Given the description of an element on the screen output the (x, y) to click on. 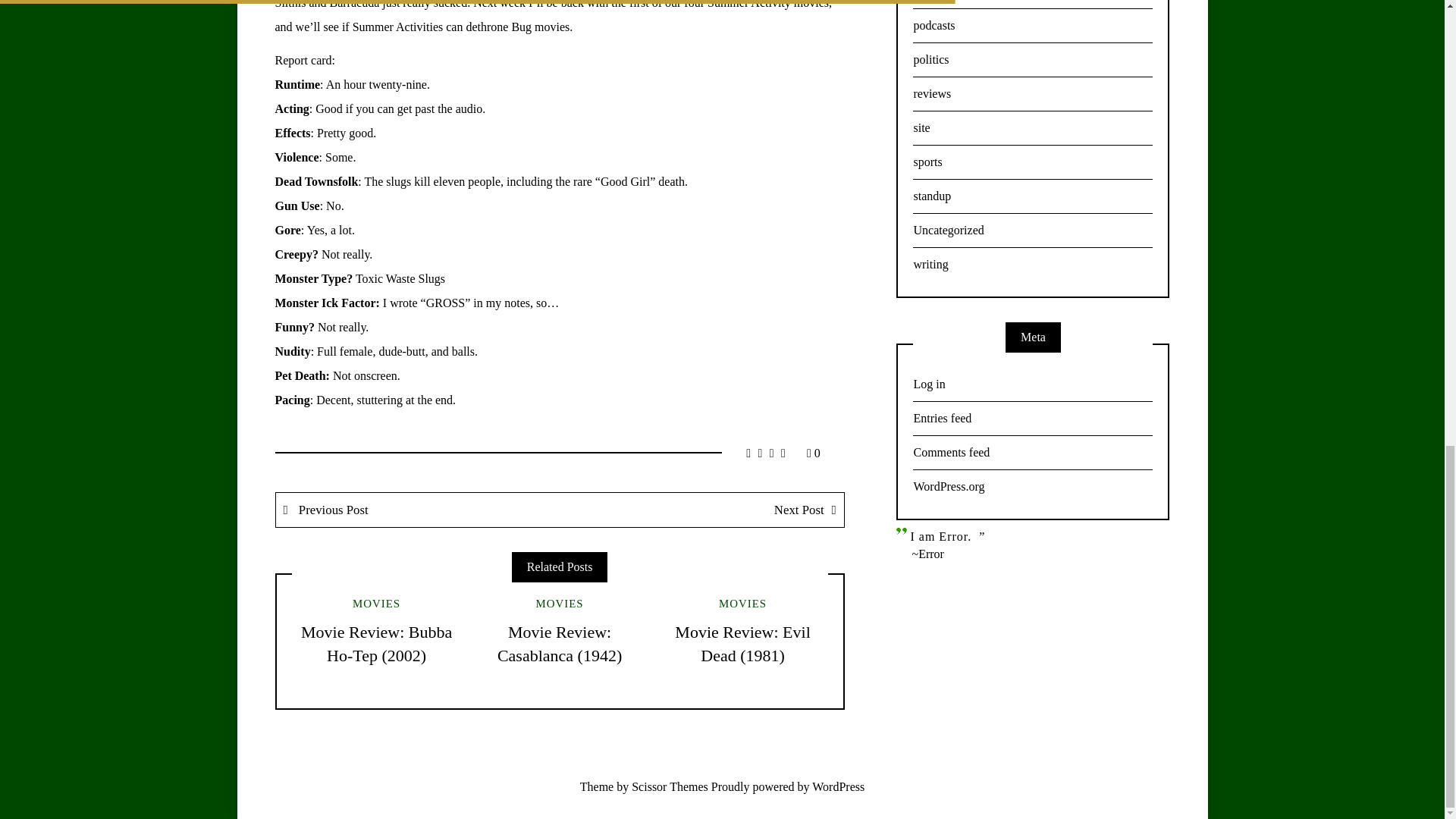
Next Post (701, 510)
Previous Post (418, 510)
MOVIES (376, 603)
0 (813, 452)
MOVIES (743, 603)
MOVIES (559, 603)
